Given the description of an element on the screen output the (x, y) to click on. 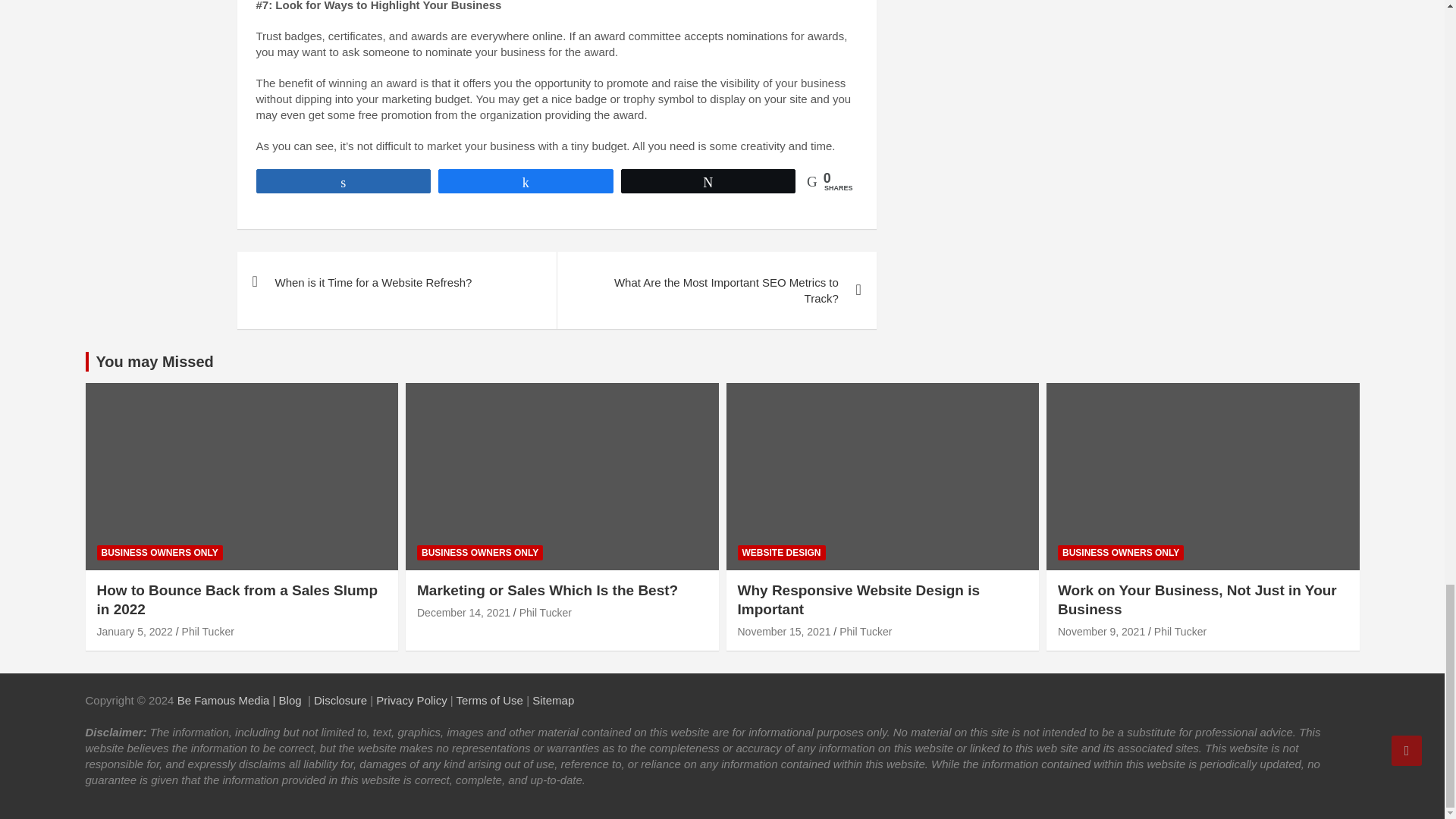
Work on Your Business, Not Just in Your Business (1101, 631)
When is it Time for a Website Refresh? (395, 281)
Why Responsive Website Design is Important (782, 631)
What Are the Most Important SEO Metrics to Track? (716, 290)
Marketing or Sales Which Is the Best? (463, 612)
How to Bounce Back from a Sales Slump in 2022 (135, 631)
